Given the description of an element on the screen output the (x, y) to click on. 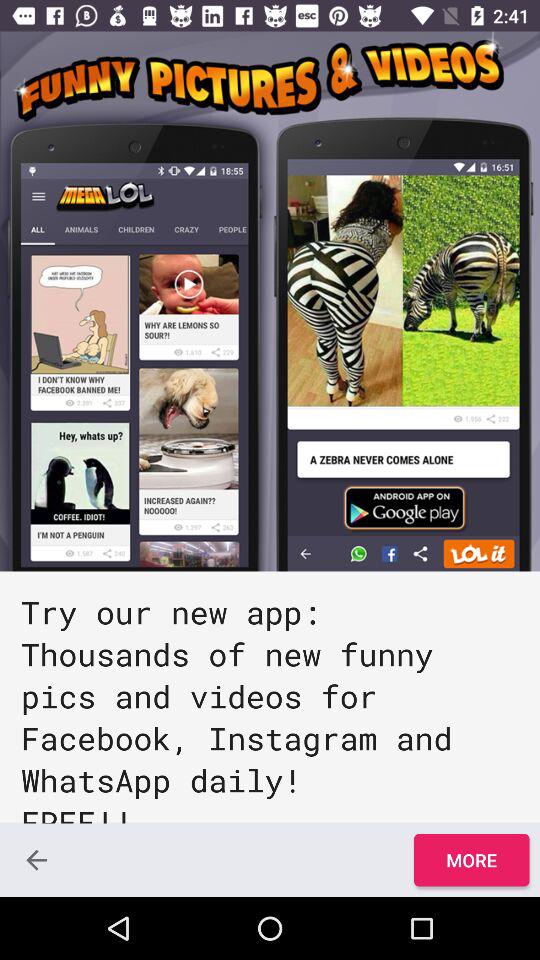
press the item above the try our new icon (270, 301)
